Given the description of an element on the screen output the (x, y) to click on. 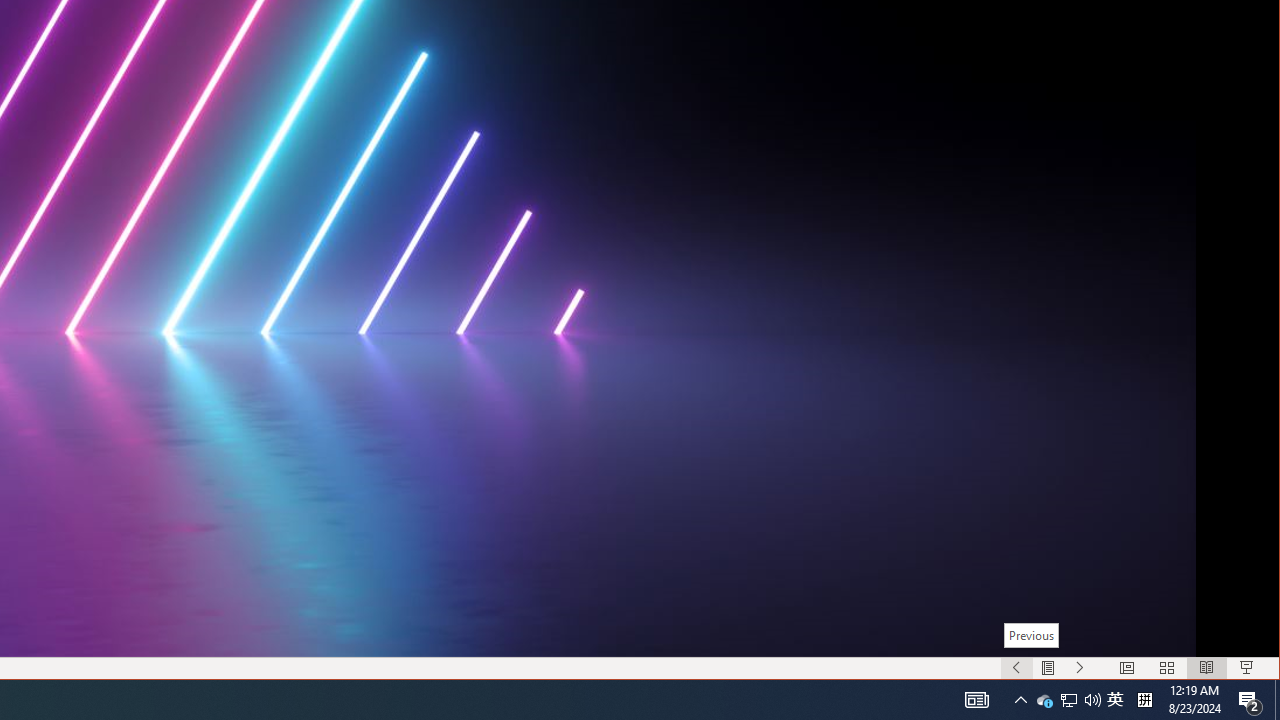
Slide Show Next On (1080, 668)
Slide Show Previous On (1016, 668)
Menu On (1048, 668)
